Given the description of an element on the screen output the (x, y) to click on. 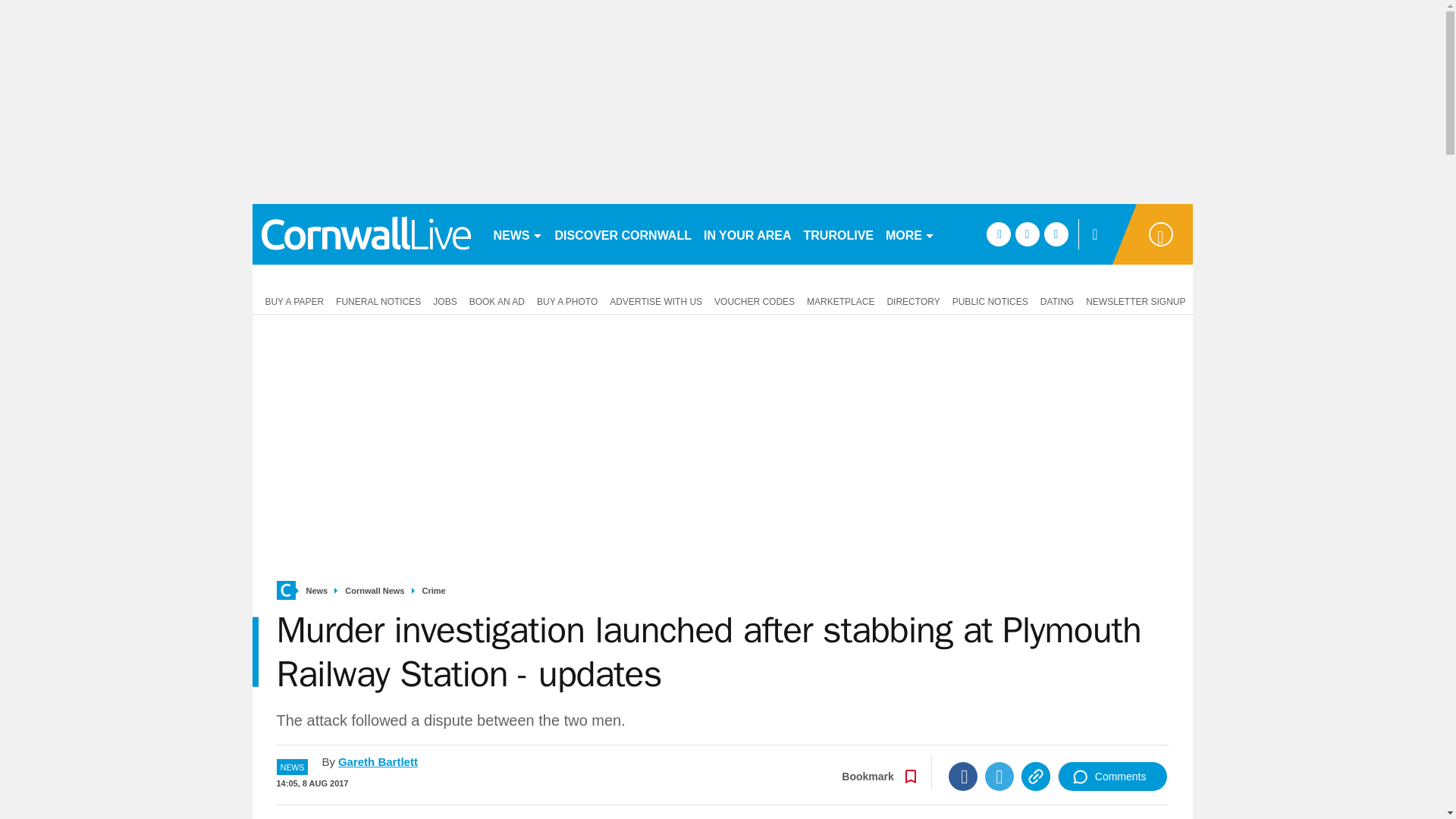
Twitter (999, 776)
DISCOVER CORNWALL (622, 233)
Comments (1112, 776)
Facebook (962, 776)
cornwalllive (365, 233)
IN YOUR AREA (747, 233)
TRUROLIVE (838, 233)
facebook (997, 233)
instagram (1055, 233)
NEWS (517, 233)
